Given the description of an element on the screen output the (x, y) to click on. 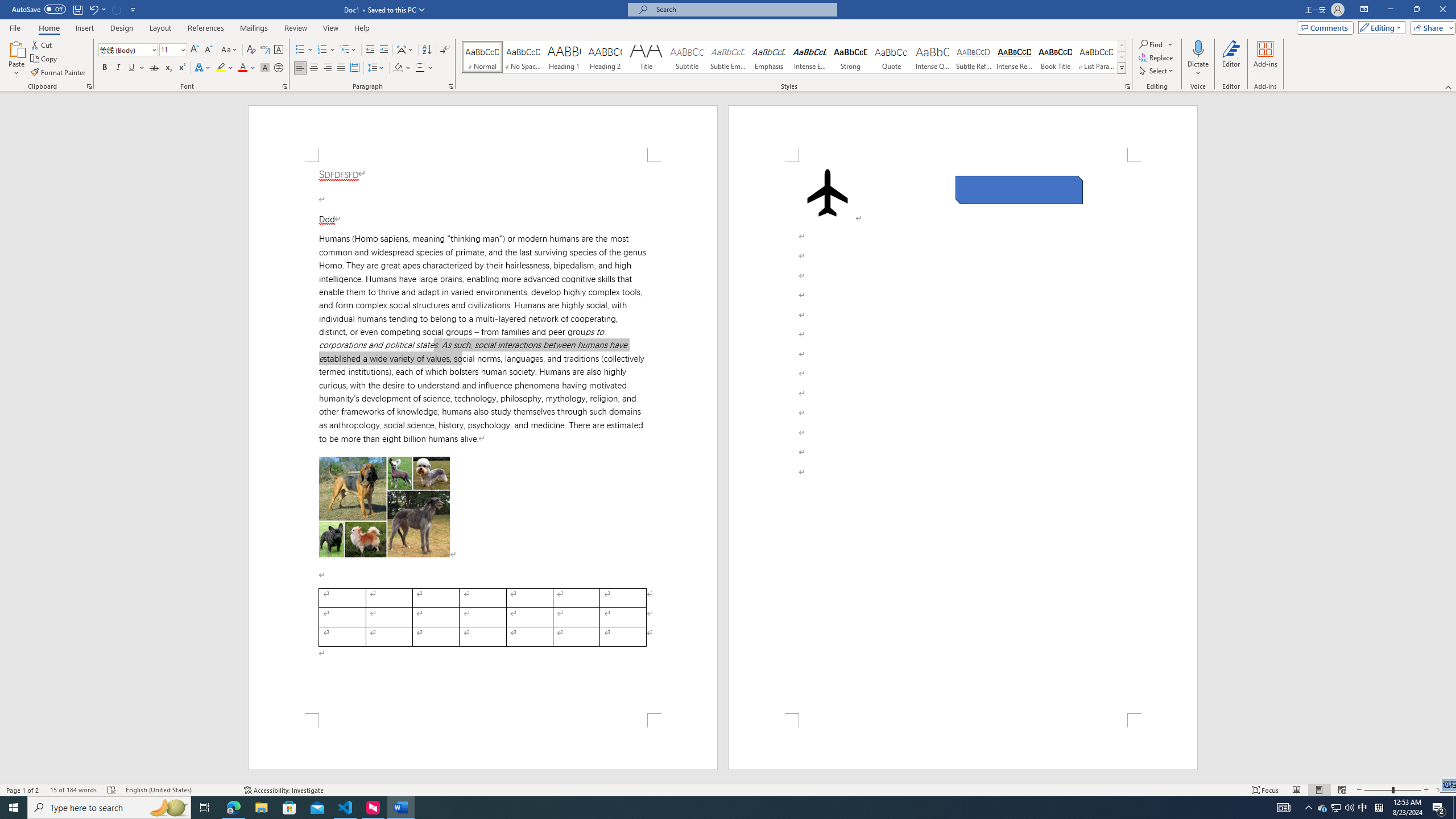
Superscript (180, 67)
